Given the description of an element on the screen output the (x, y) to click on. 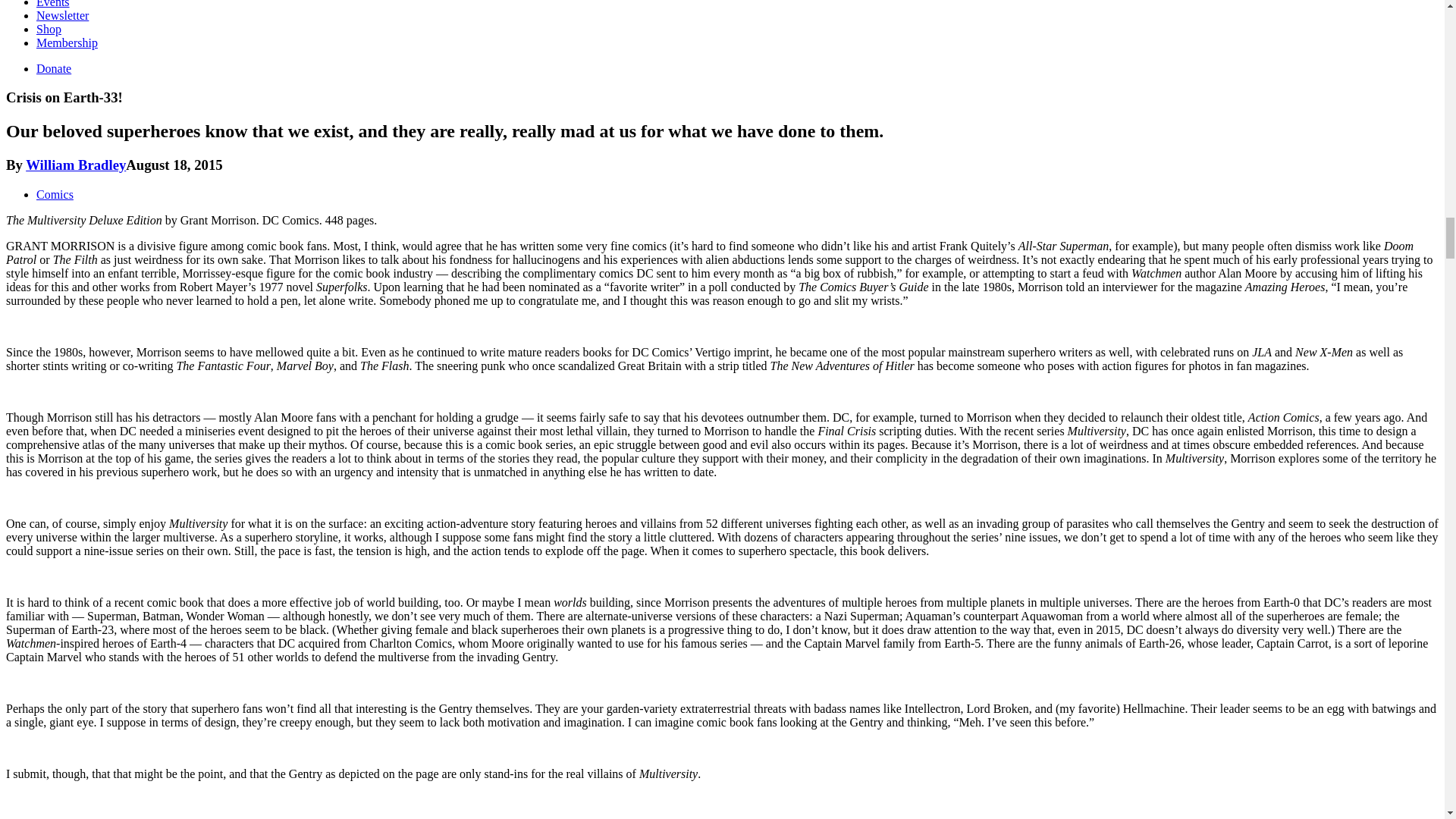
Newsletter (62, 15)
Membership (66, 42)
William Bradley (75, 164)
Shop (48, 29)
Events (52, 4)
